Given the description of an element on the screen output the (x, y) to click on. 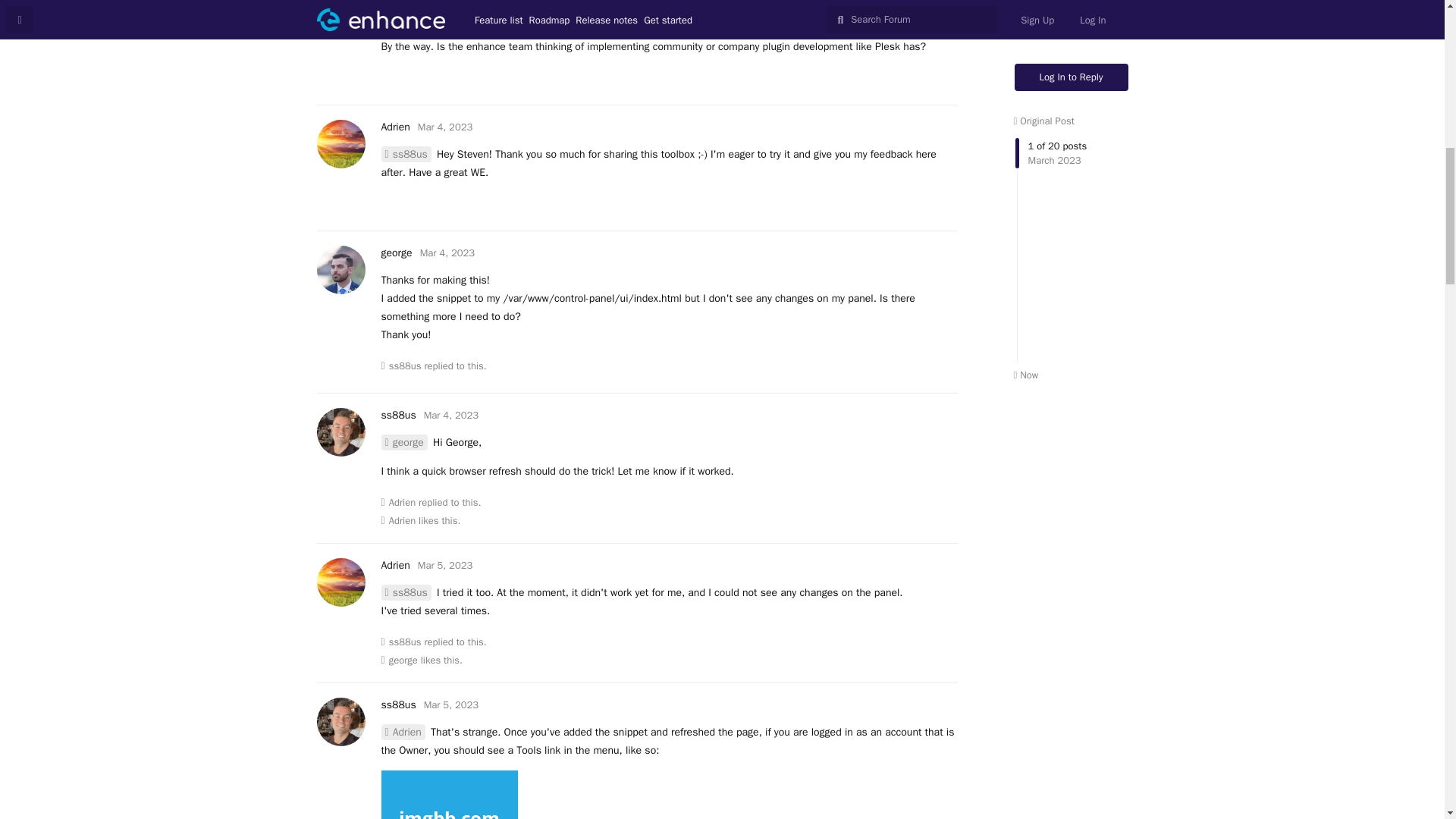
Adrien (394, 126)
Sunday, March 5, 2023 2:33 AM (444, 564)
ss88us (405, 10)
ss88us (405, 154)
Saturday, March 4, 2023 12:53 AM (447, 252)
Mar 4, 2023 (444, 126)
Sunday, March 5, 2023 6:53 AM (451, 704)
Saturday, March 4, 2023 12:42 AM (444, 126)
george (396, 252)
Saturday, March 4, 2023 1:55 AM (451, 414)
